Given the description of an element on the screen output the (x, y) to click on. 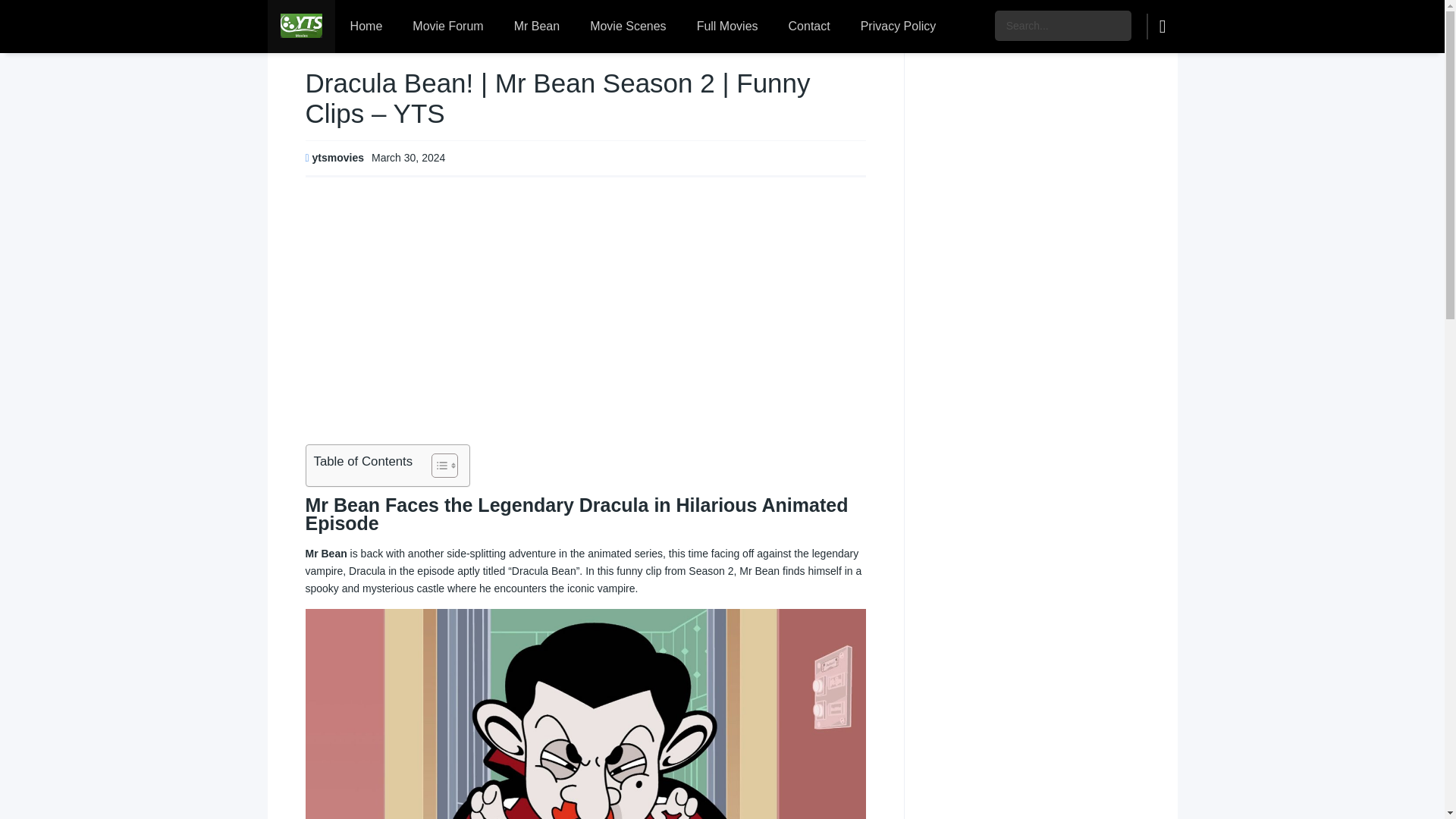
Movie Scenes (628, 26)
Full Movies (727, 26)
Mr Bean (537, 26)
Home (365, 26)
Movie Forum (447, 26)
Privacy Policy (898, 26)
Contact (809, 26)
